Given the description of an element on the screen output the (x, y) to click on. 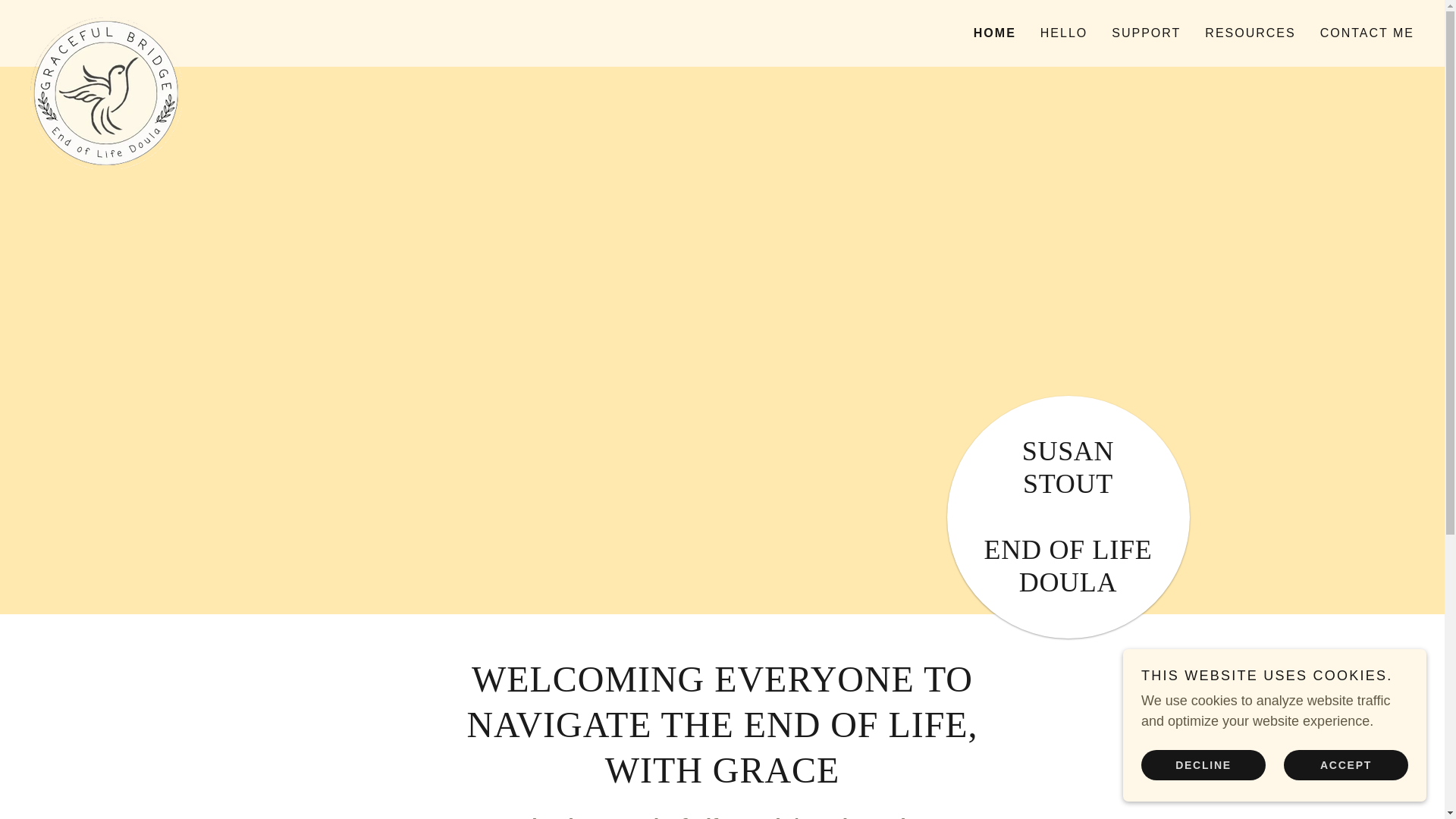
ACCEPT (1345, 764)
DECLINE (1203, 764)
HELLO (1063, 32)
SUPPORT (1145, 32)
HOME (995, 33)
RESOURCES (1249, 32)
Graceful Bridge (202, 24)
CONTACT ME (1367, 32)
